Given the description of an element on the screen output the (x, y) to click on. 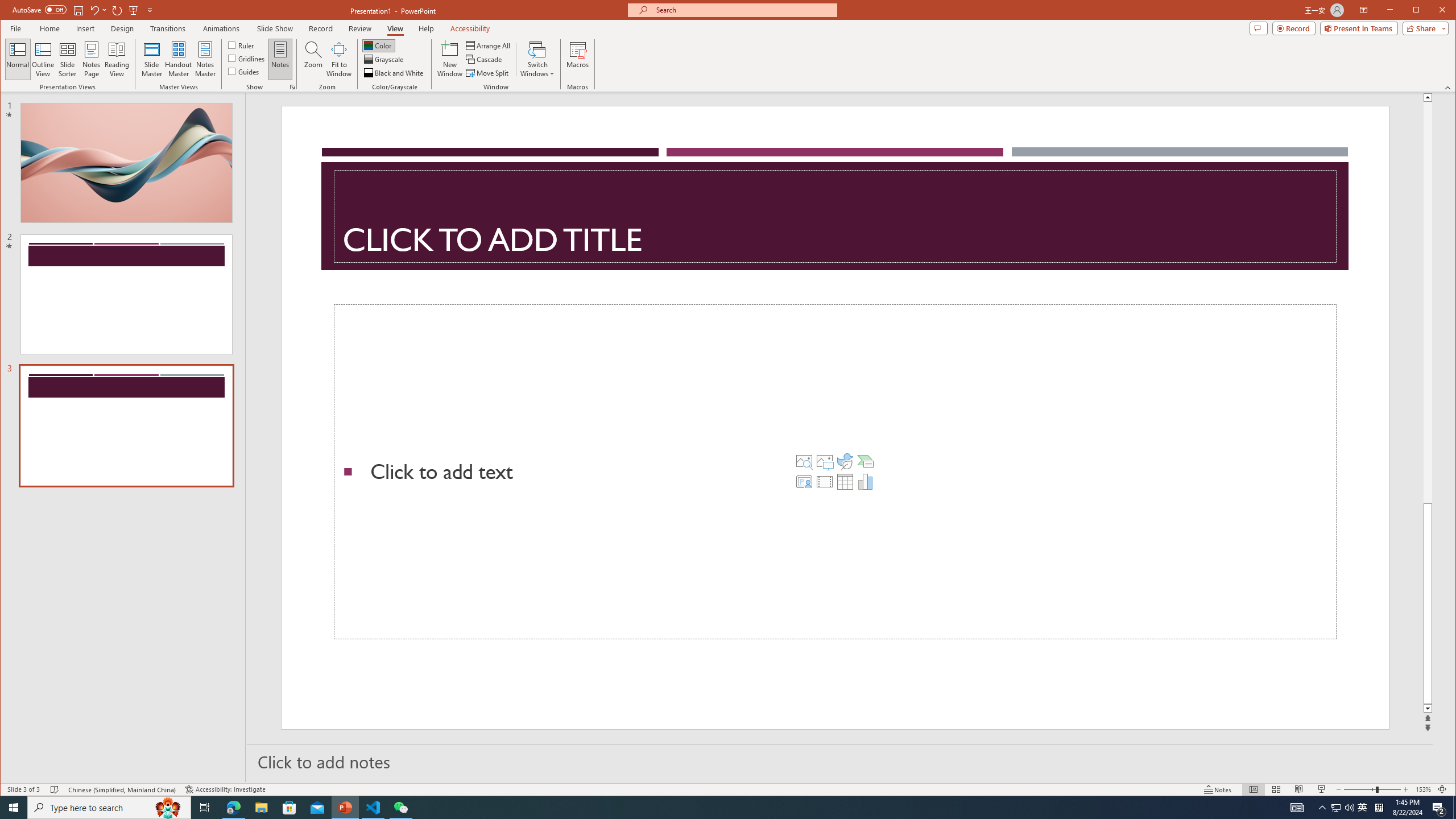
Slide Master (151, 59)
Notes Page (91, 59)
